Given the description of an element on the screen output the (x, y) to click on. 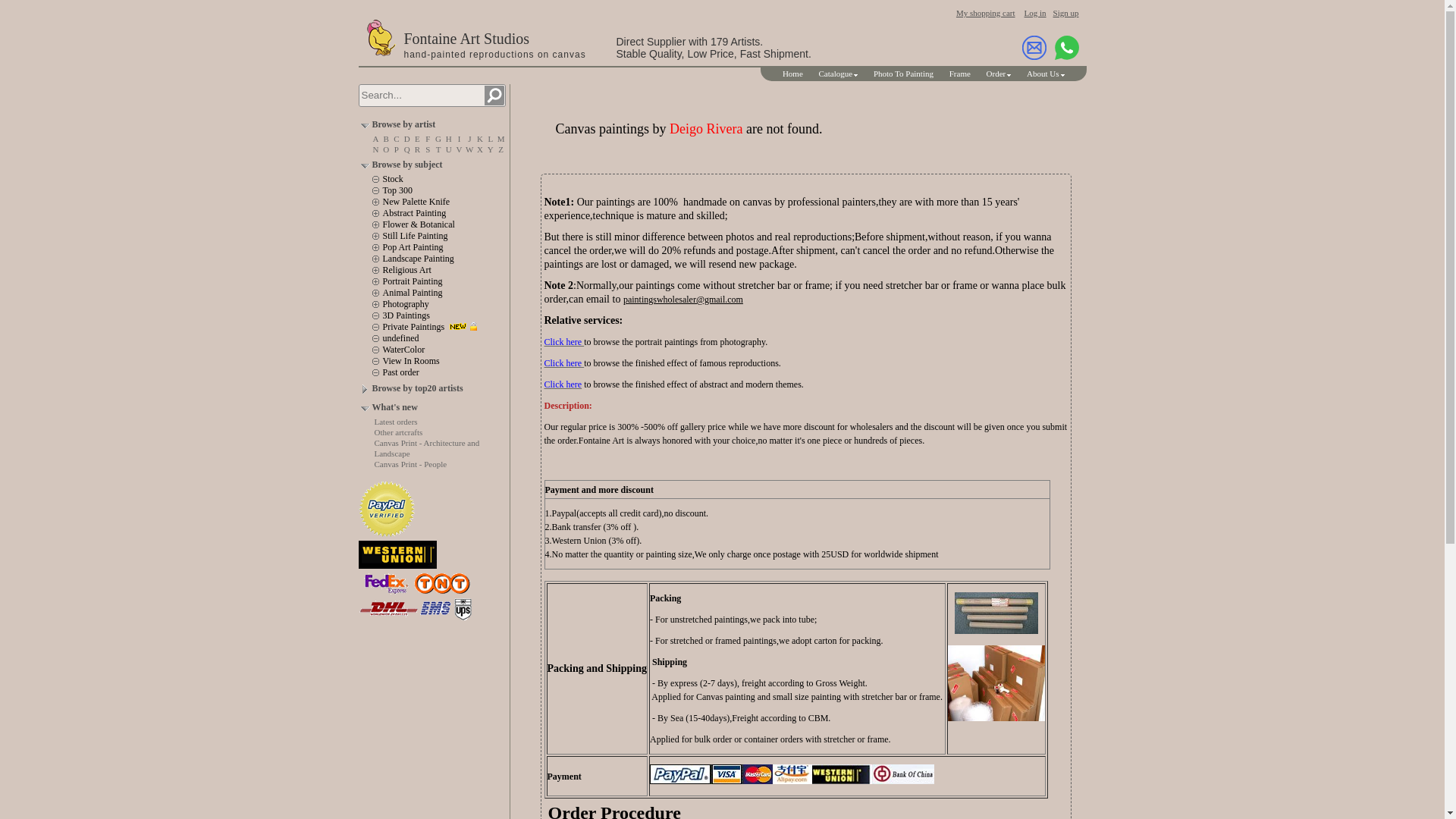
search (493, 95)
A (374, 138)
C (396, 138)
About Us (1045, 73)
search (493, 95)
Order (999, 73)
Chat on WhatsApp (1066, 47)
Sign up (1065, 12)
Photo To Painting (903, 73)
My shopping cart (985, 12)
